Given the description of an element on the screen output the (x, y) to click on. 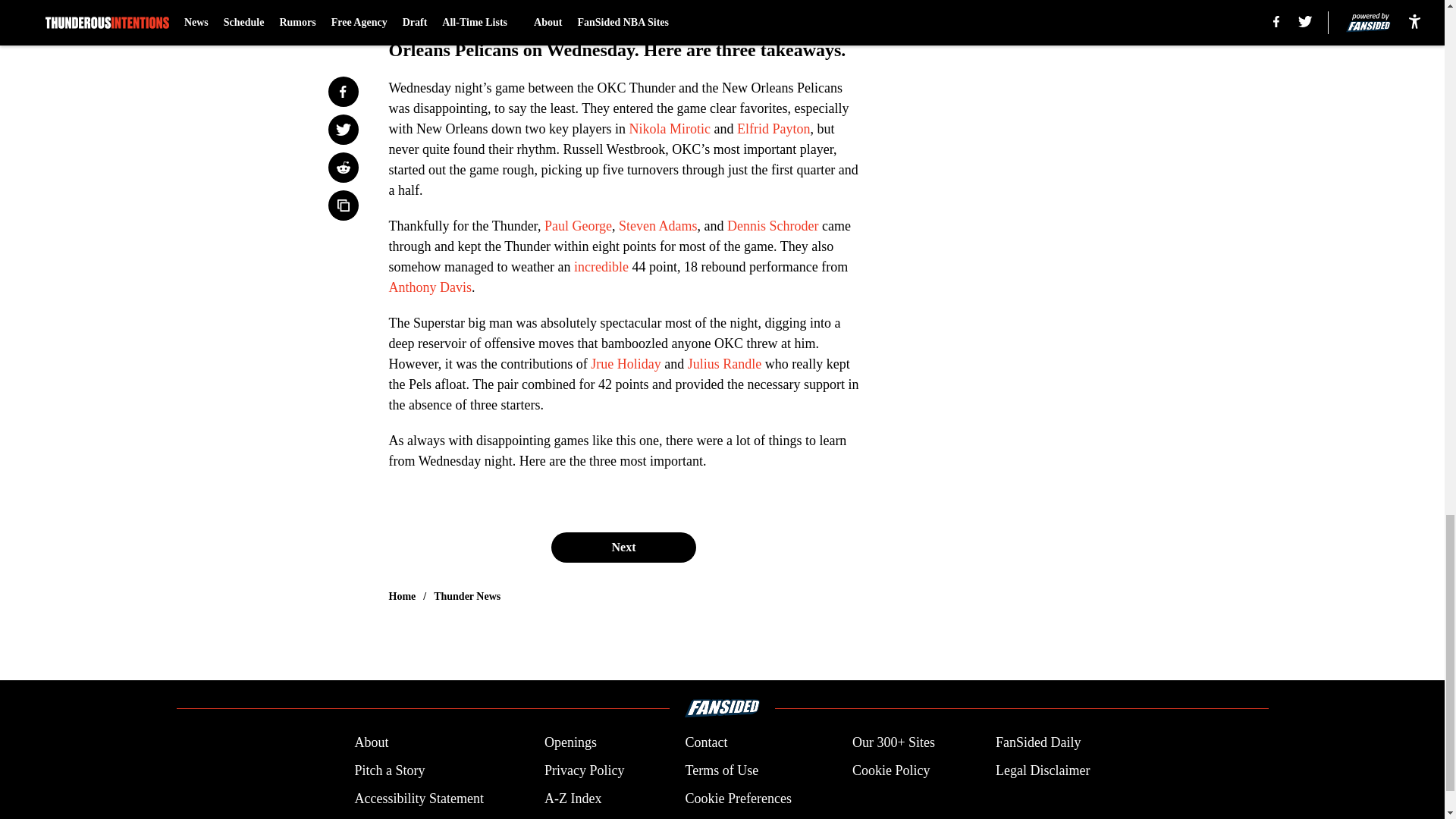
About (370, 742)
Home (401, 596)
Dennis Schroder (772, 225)
Steven Adams (657, 225)
Julius Randle (724, 363)
Thunder News (466, 596)
Paul George (577, 225)
Nikola Mirotic (669, 128)
incredible (600, 266)
Anthony Davis (429, 287)
